Given the description of an element on the screen output the (x, y) to click on. 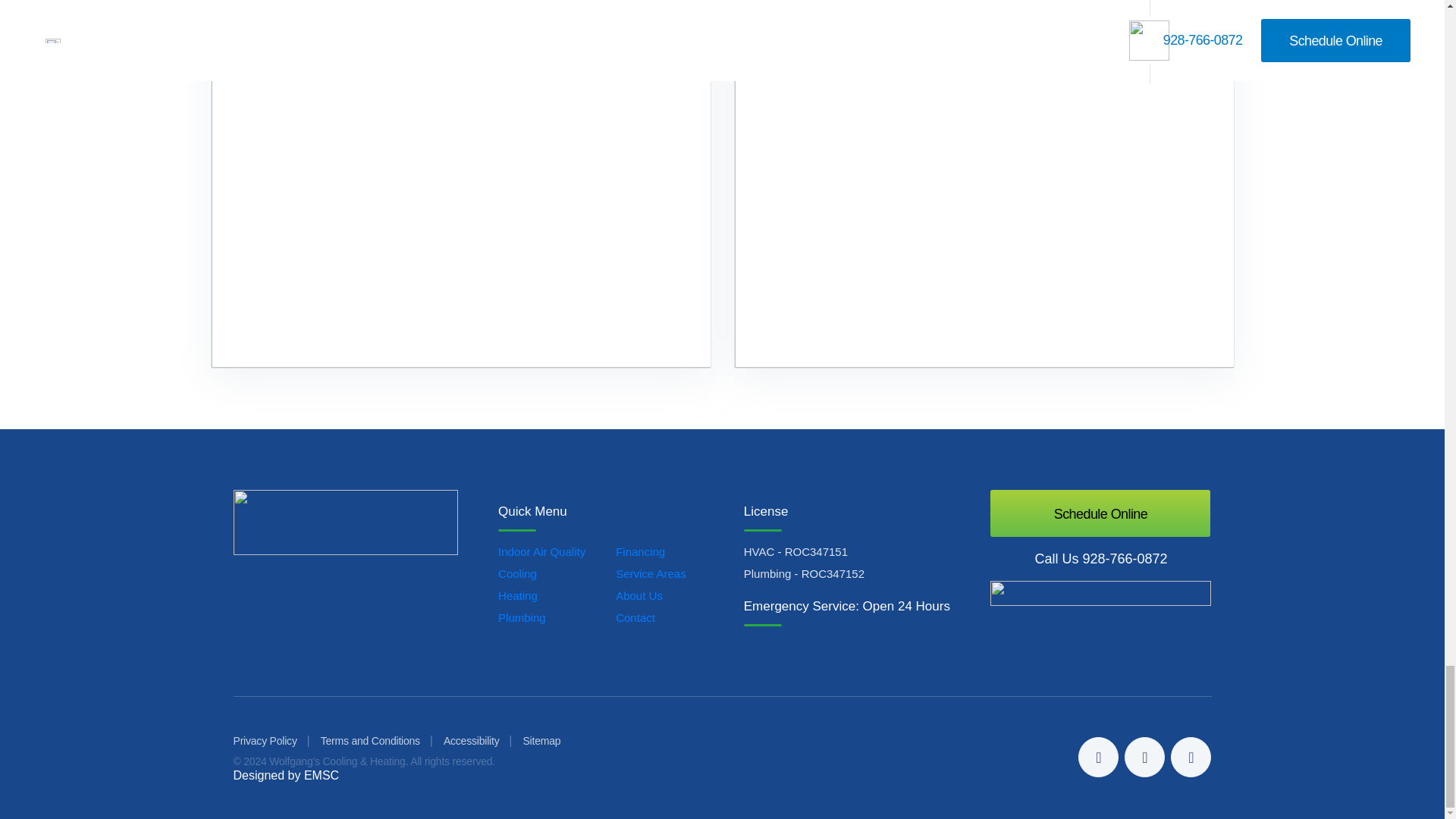
Cooling (517, 573)
About Us (638, 594)
Terms and Conditions (370, 740)
Call Us 928-766-0872 (1100, 558)
Sitemap (541, 740)
Plumbing (521, 617)
YouTube (1190, 757)
Schedule Online (1099, 513)
Heating (517, 594)
Service Areas (650, 573)
